Given the description of an element on the screen output the (x, y) to click on. 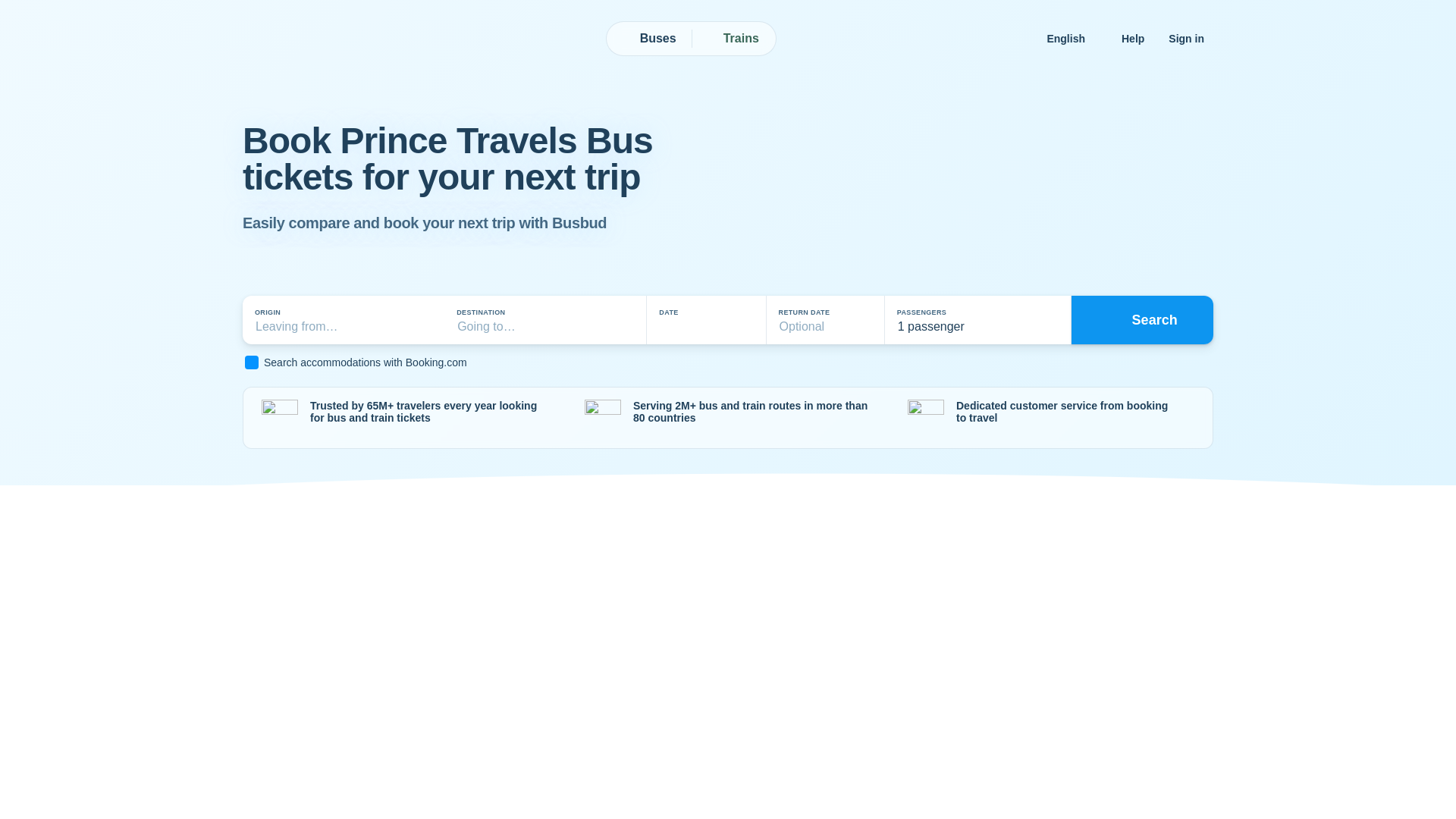
English (1071, 38)
Buses (649, 38)
Search (1141, 319)
1 passenger (977, 319)
Trains (732, 38)
Sign in (1185, 38)
Help (1132, 38)
